Given the description of an element on the screen output the (x, y) to click on. 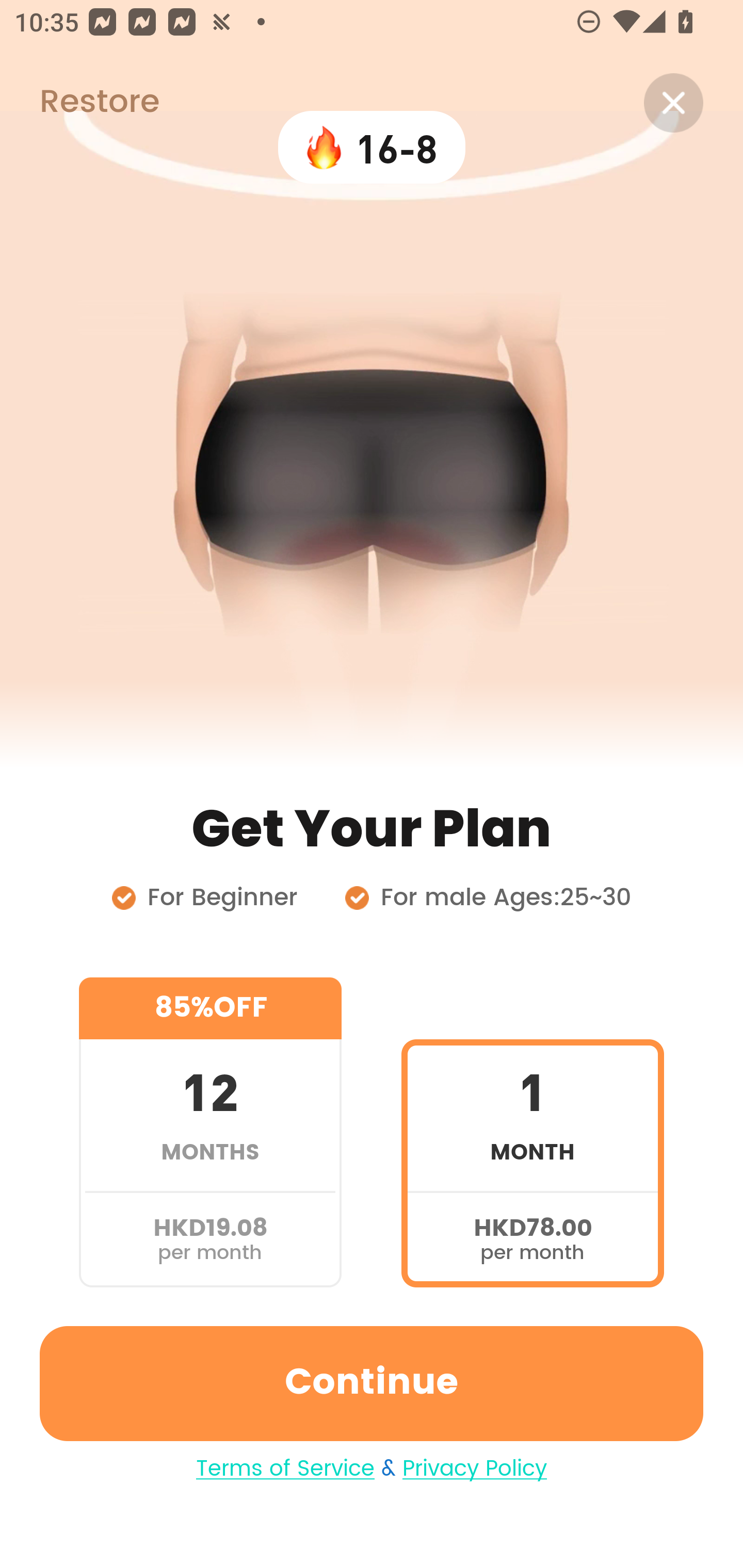
Restore (79, 102)
85%OFF 12 MONTHS per month HKD19.08 (209, 1131)
1 MONTH per month HKD78.00 (532, 1131)
Continue (371, 1383)
